Given the description of an element on the screen output the (x, y) to click on. 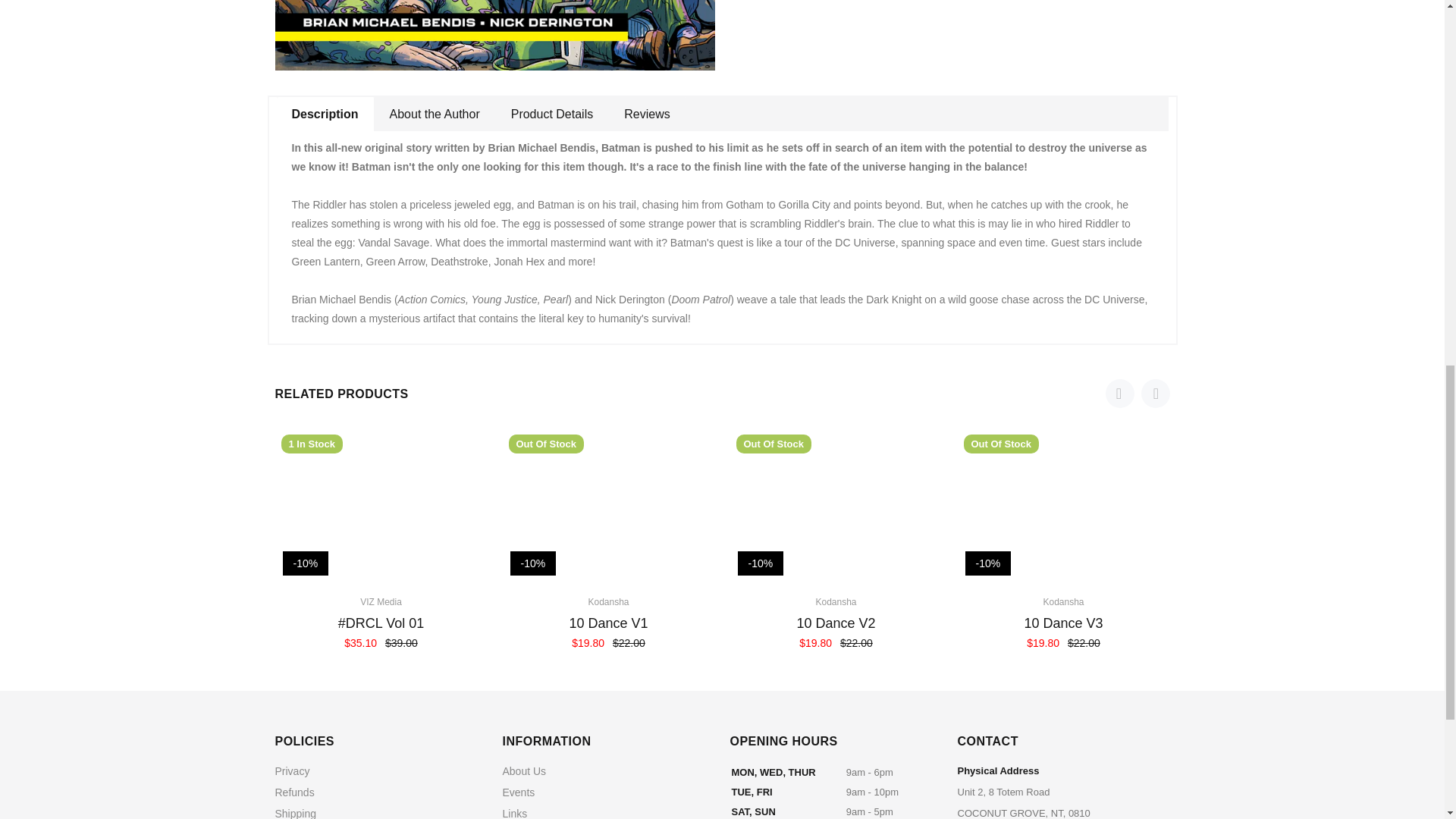
Kodansha (835, 602)
Kodansha (608, 602)
Kodansha (1062, 602)
VIZ Media (380, 602)
